Given the description of an element on the screen output the (x, y) to click on. 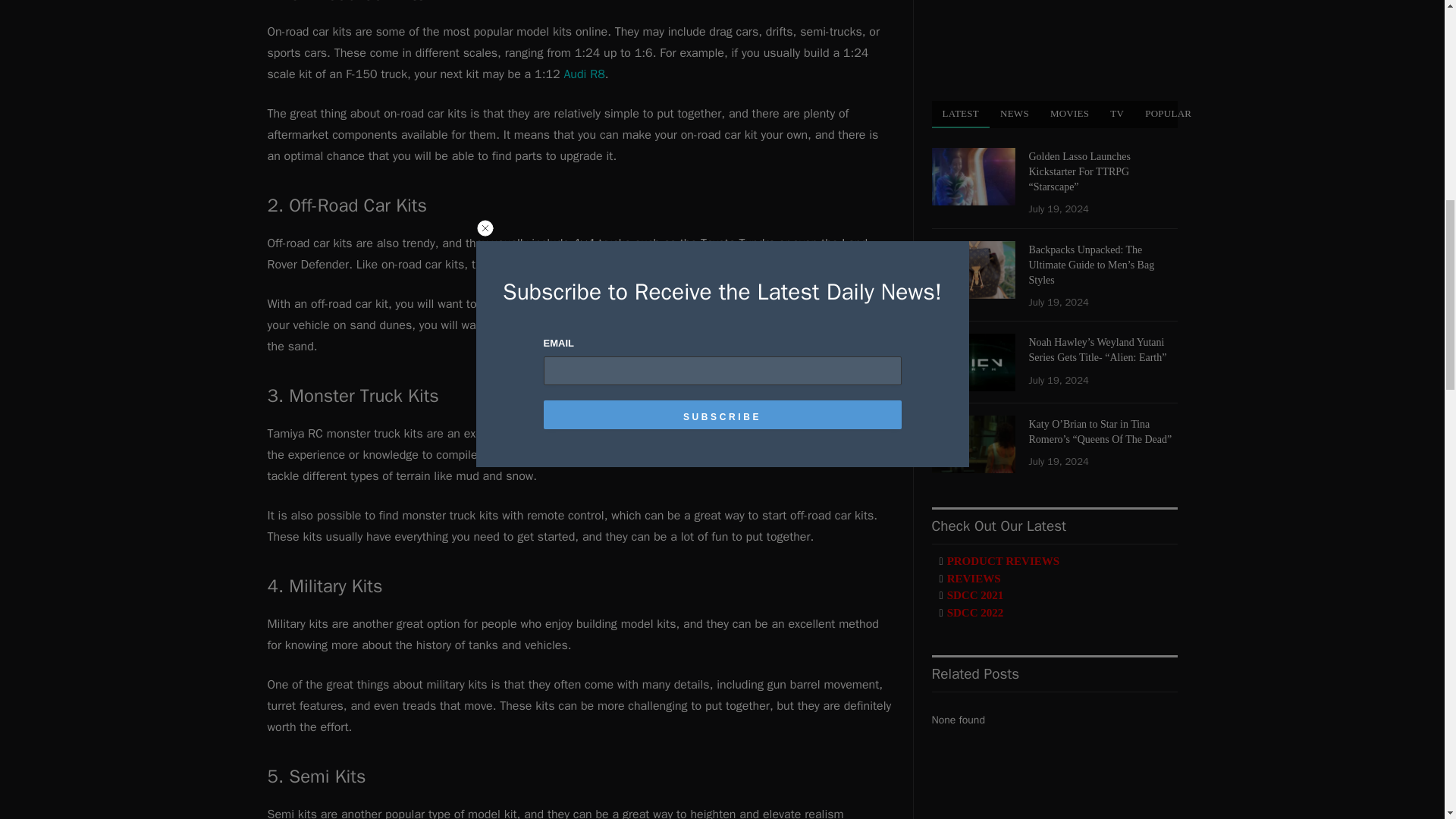
Audi R8 (583, 73)
